Given the description of an element on the screen output the (x, y) to click on. 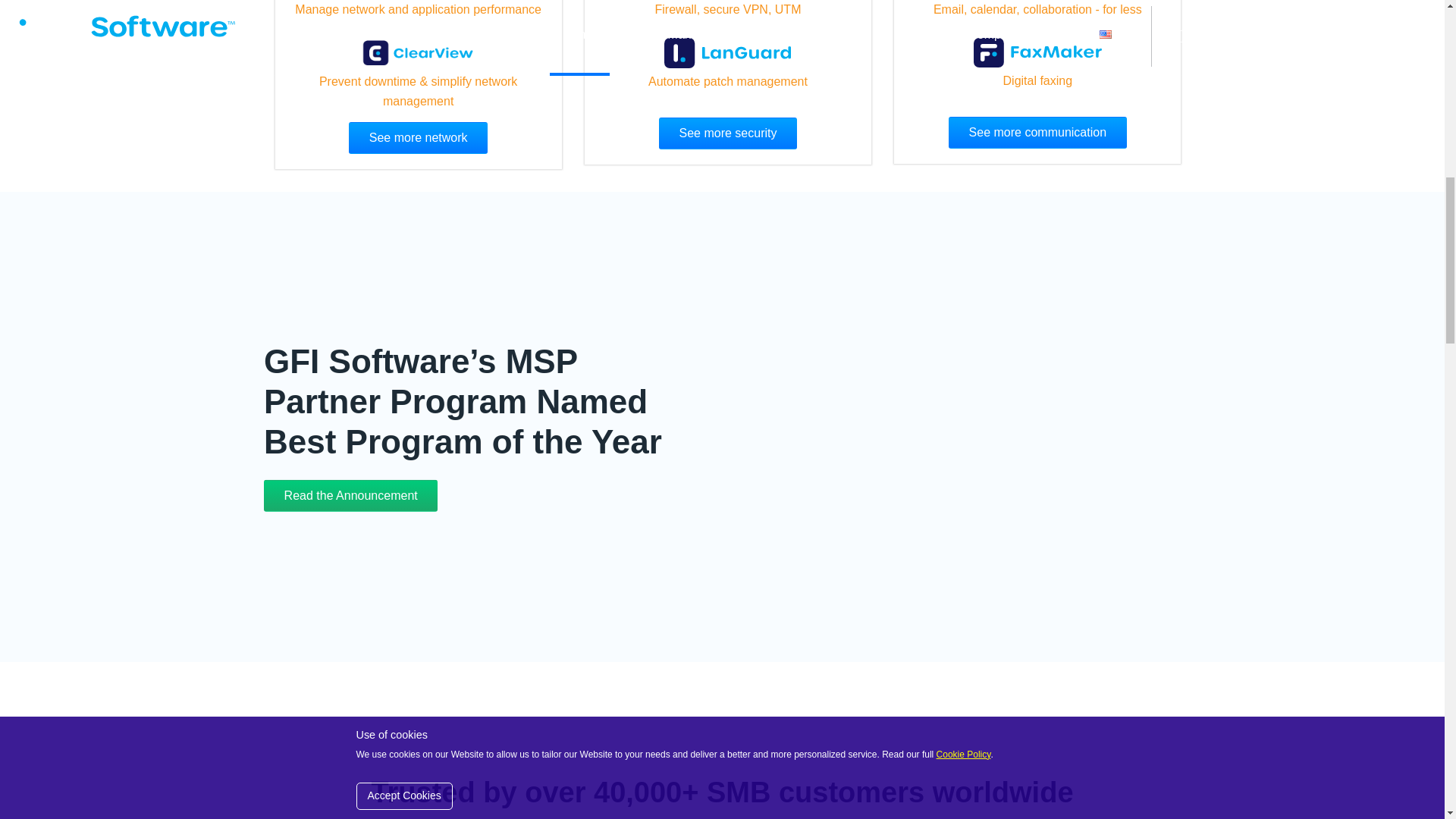
Firewall, secure VPN, UTM (728, 9)
Manage network and application performance (418, 9)
Automate patch management (727, 81)
Email, calendar, collaboration - for less (1037, 9)
See more security (727, 133)
See more network (418, 137)
